Given the description of an element on the screen output the (x, y) to click on. 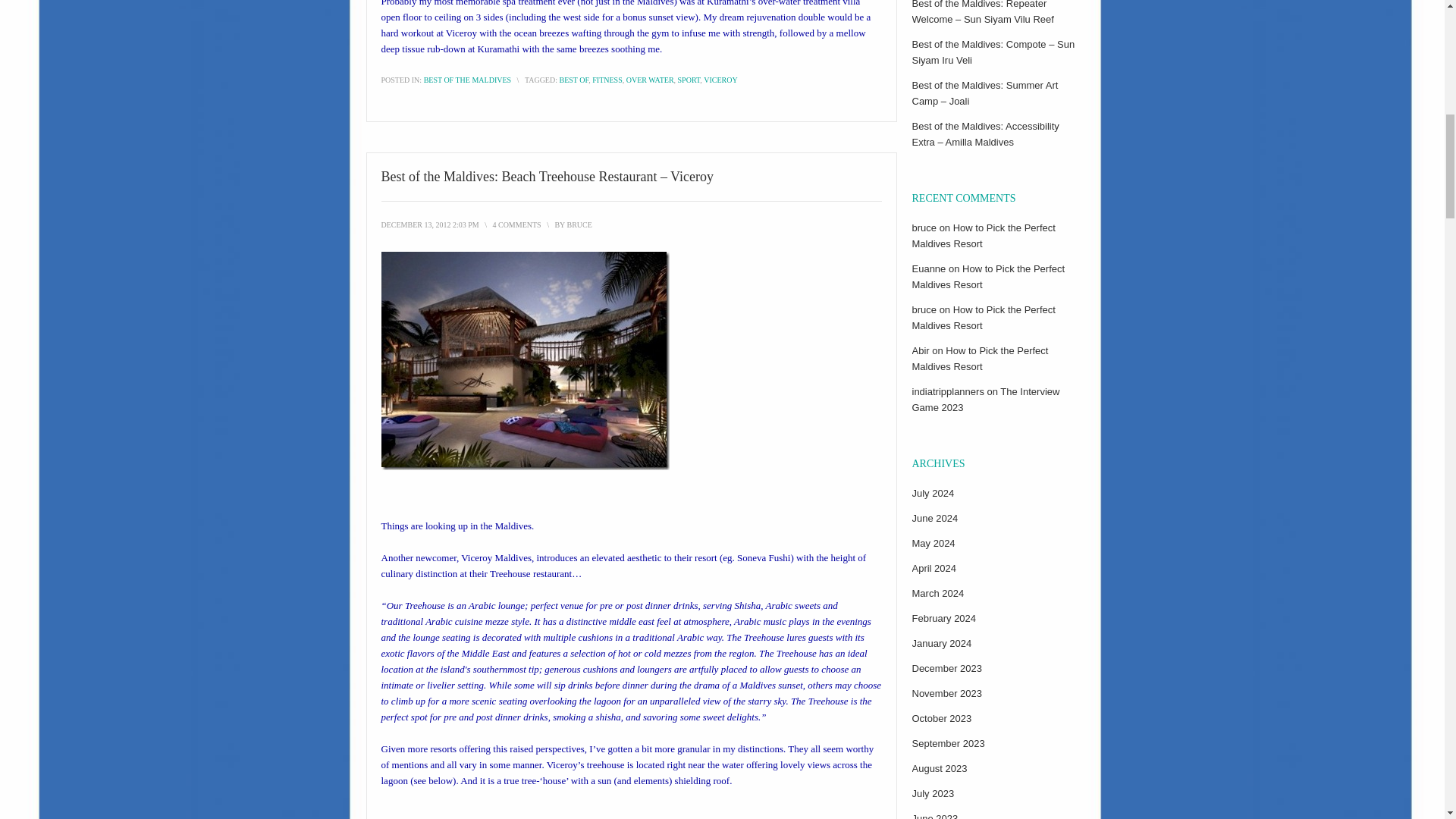
FITNESS (606, 80)
BEST OF THE MALDIVES (467, 80)
Viceroy Maldives (496, 557)
SPORT (689, 80)
Soneva Fushi (763, 557)
Viceroy Treehouse (524, 360)
4 COMMENTS (516, 224)
elevated aesthetic (626, 557)
VICEROY (719, 80)
OVER WATER (650, 80)
BRUCE (578, 224)
DECEMBER 13, 2012 2:03 PM (429, 224)
by bruce (578, 224)
BEST OF (573, 80)
Treehouse (510, 573)
